Given the description of an element on the screen output the (x, y) to click on. 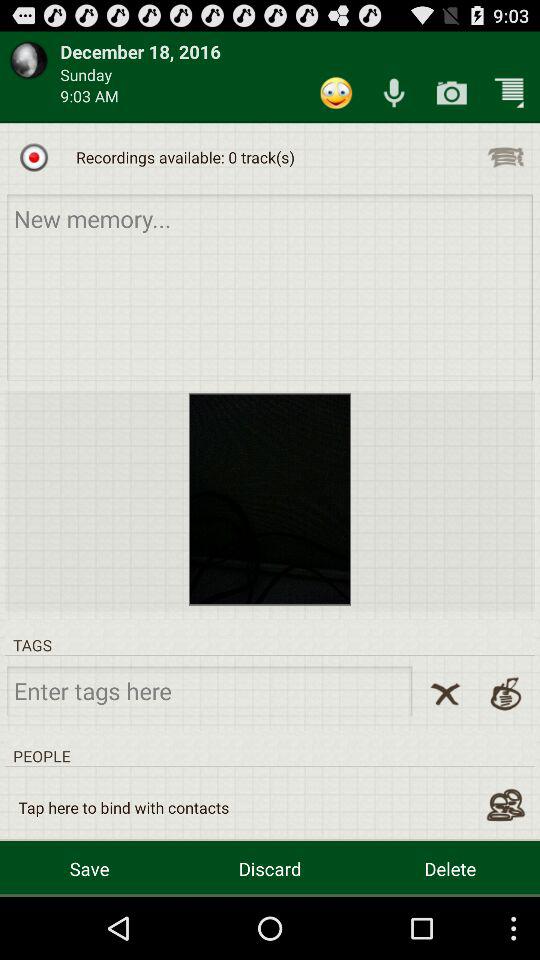
open the microphone (394, 92)
